Given the description of an element on the screen output the (x, y) to click on. 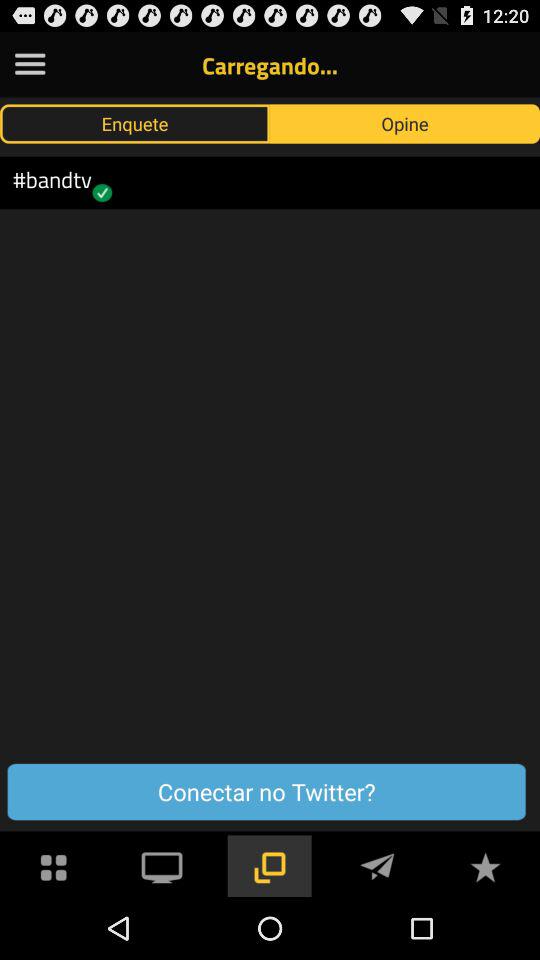
launch the button above the conectar no twitter? (405, 123)
